Given the description of an element on the screen output the (x, y) to click on. 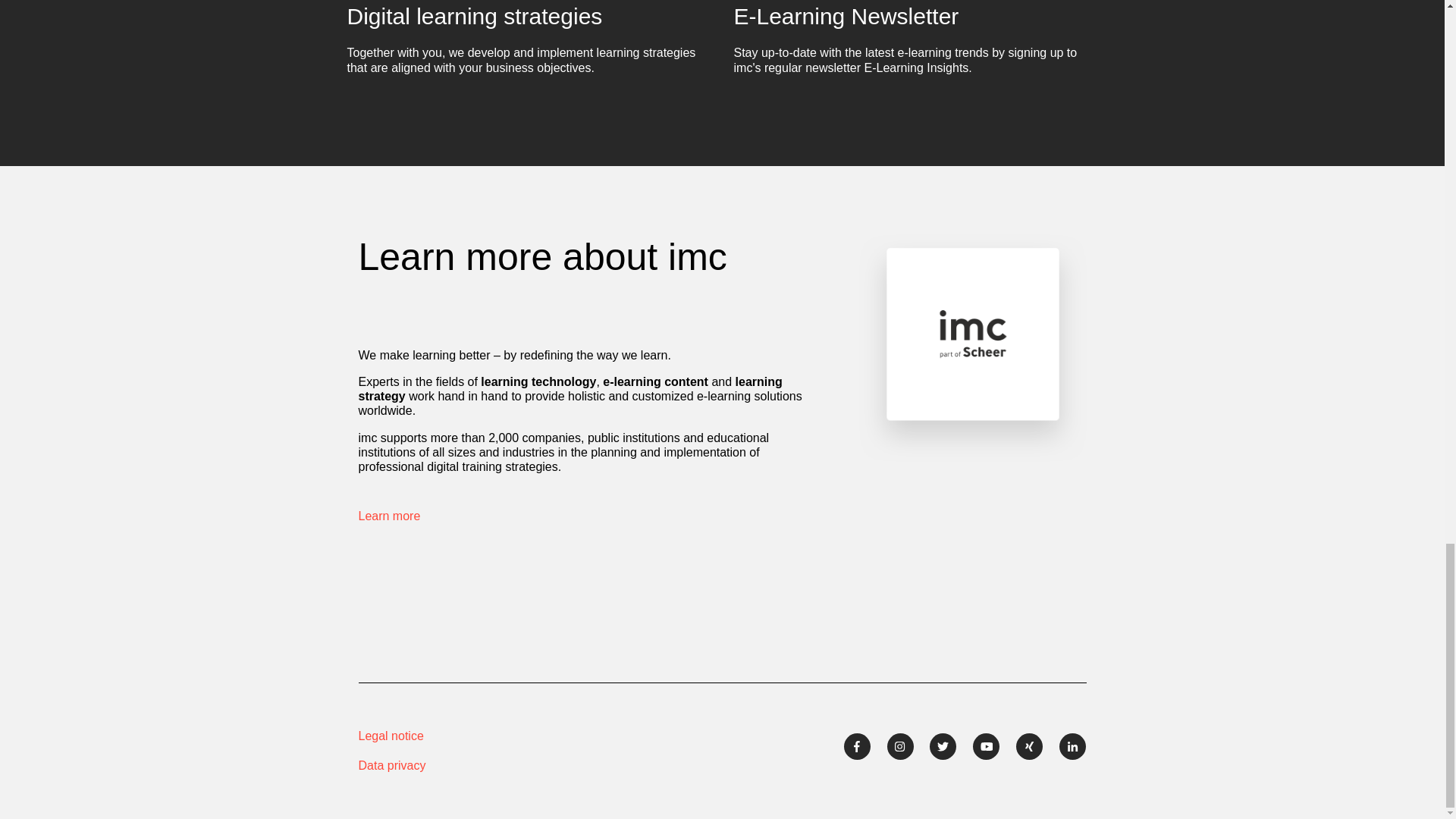
Learn more (389, 515)
Legal notice (464, 736)
Data privacy (464, 765)
